Given the description of an element on the screen output the (x, y) to click on. 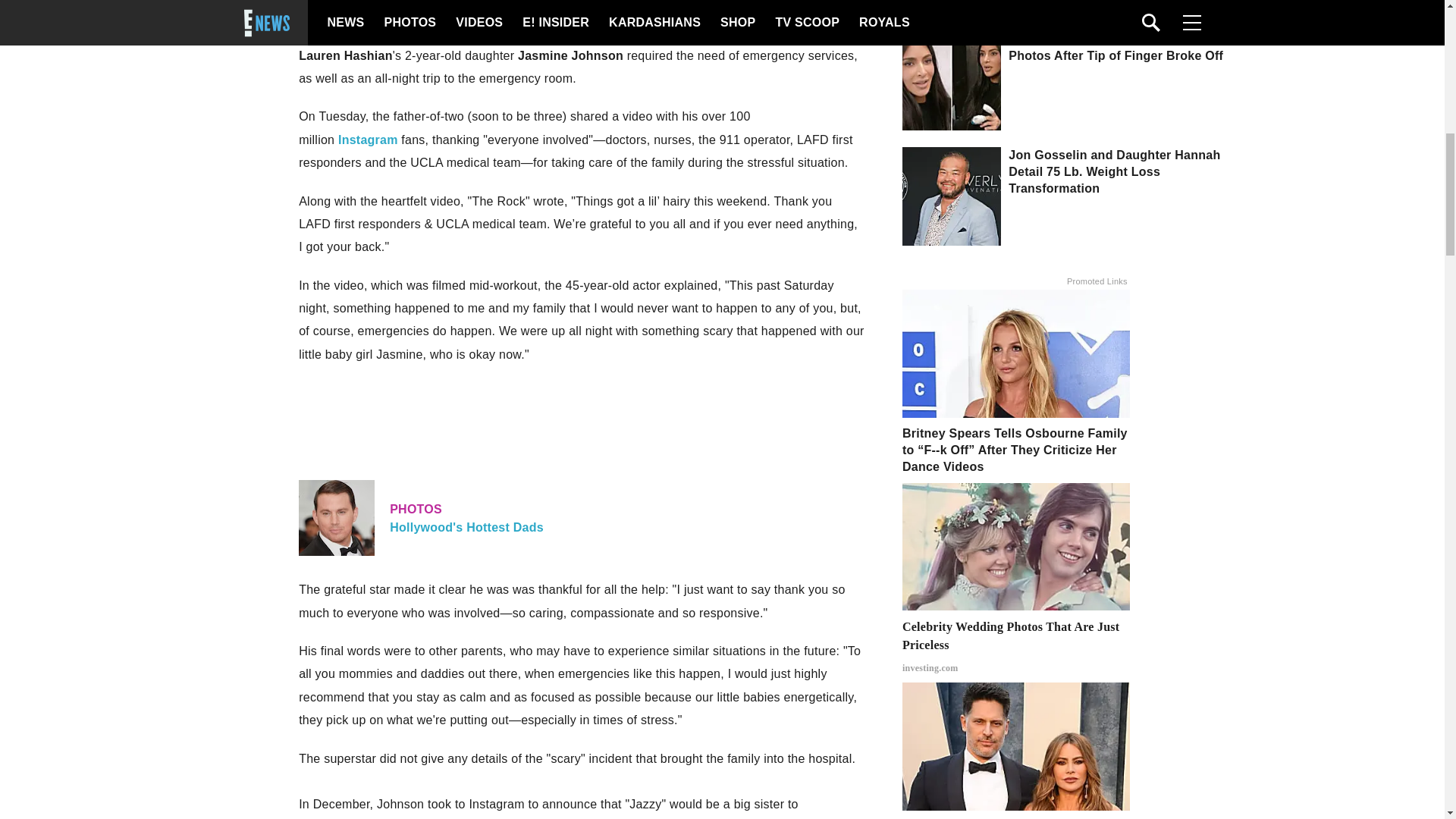
Instagram (367, 139)
